Given the description of an element on the screen output the (x, y) to click on. 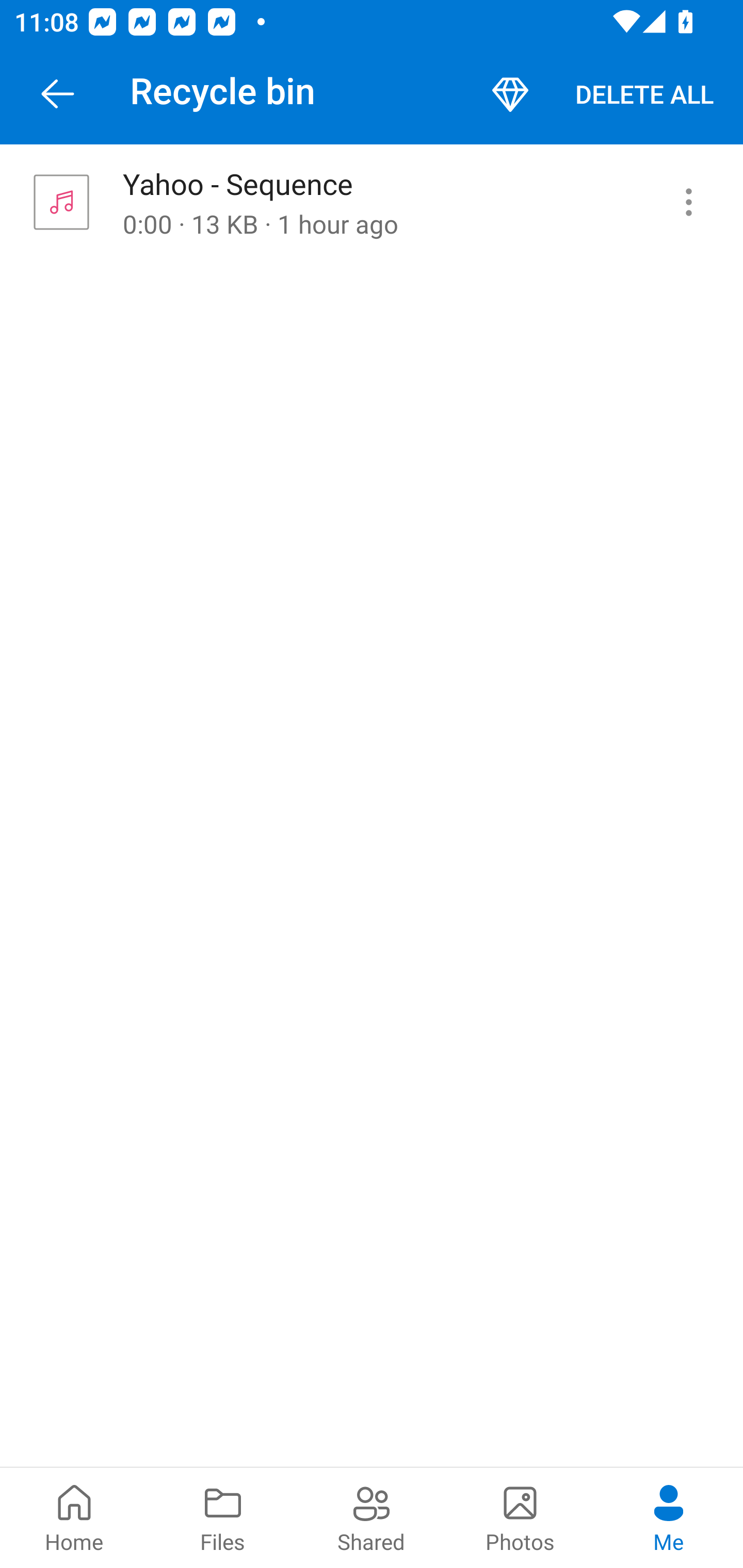
Navigate Up (57, 93)
Premium button (509, 93)
DELETE ALL Delete all button (644, 93)
Yahoo - Sequence commands (688, 202)
Home pivot Home (74, 1517)
Files pivot Files (222, 1517)
Shared pivot Shared (371, 1517)
Photos pivot Photos (519, 1517)
